Given the description of an element on the screen output the (x, y) to click on. 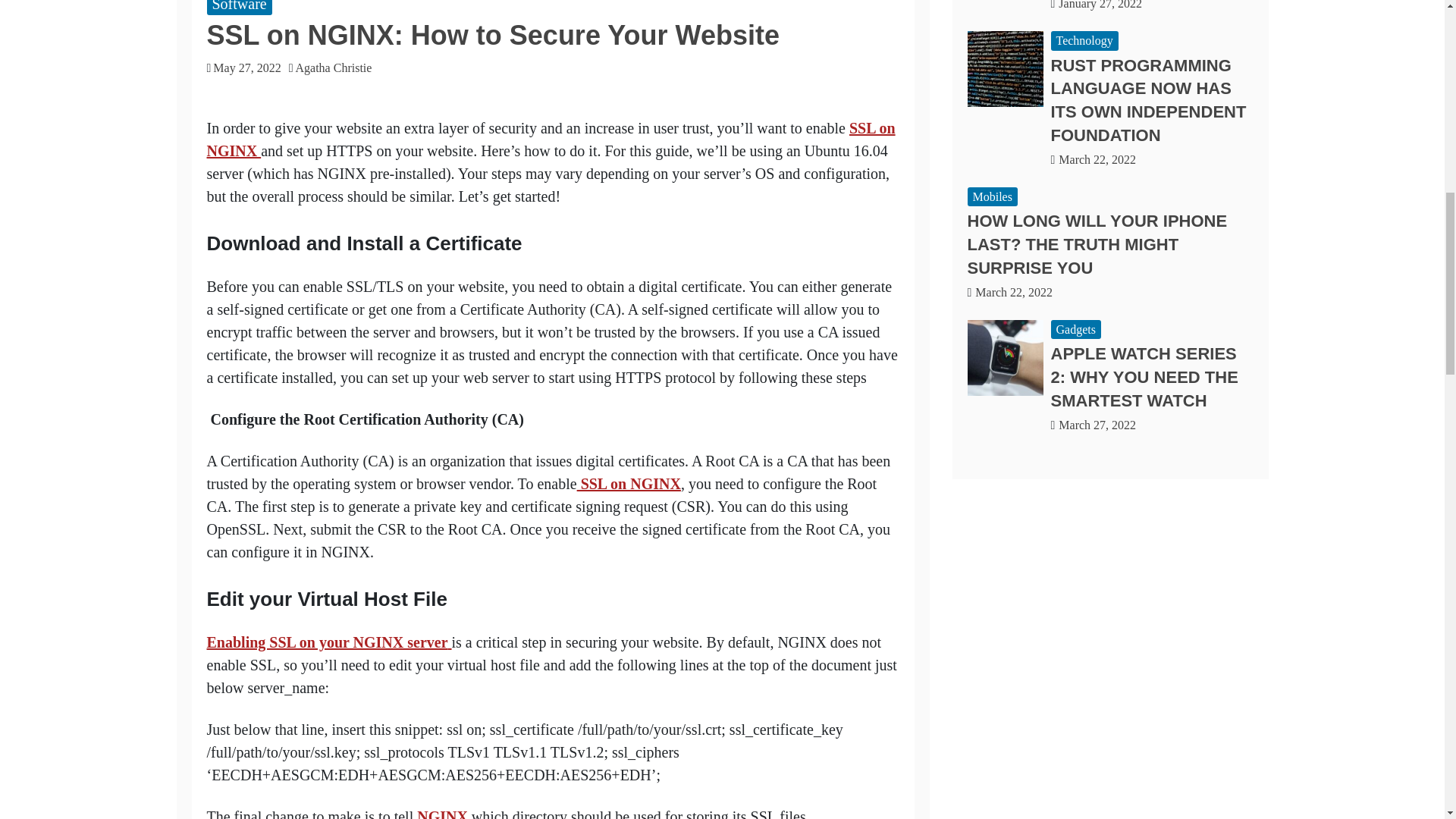
Software (238, 7)
Agatha Christie (337, 67)
SSL on NGINX (628, 483)
May 27, 2022 (246, 67)
SSL on NGINX (550, 138)
Enabling SSL on your NGINX server (328, 641)
NGINX (441, 813)
